Given the description of an element on the screen output the (x, y) to click on. 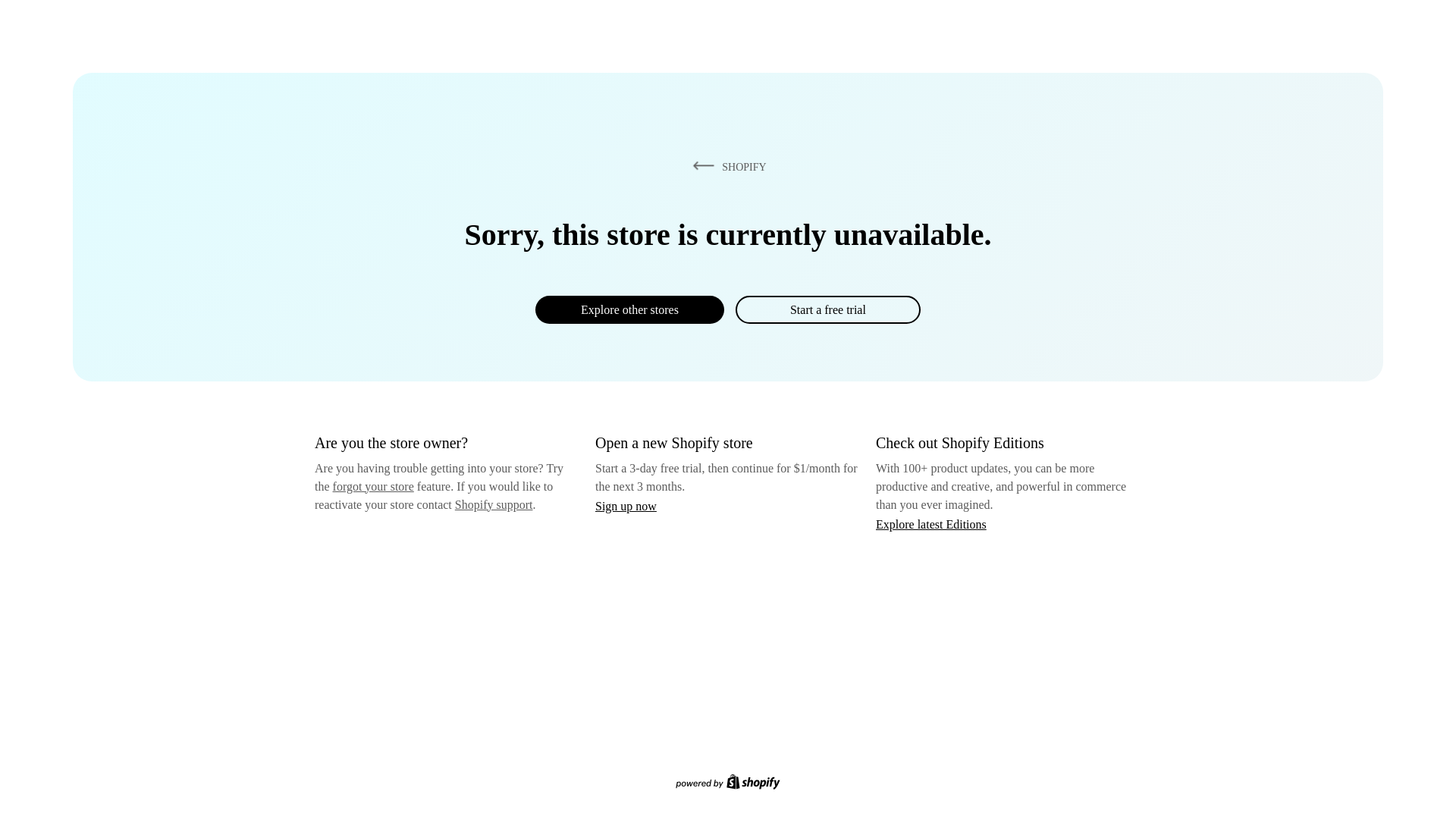
forgot your store (373, 486)
Start a free trial (827, 309)
Explore other stores (629, 309)
Explore latest Editions (931, 523)
Sign up now (625, 505)
SHOPIFY (726, 166)
Shopify support (493, 504)
